Given the description of an element on the screen output the (x, y) to click on. 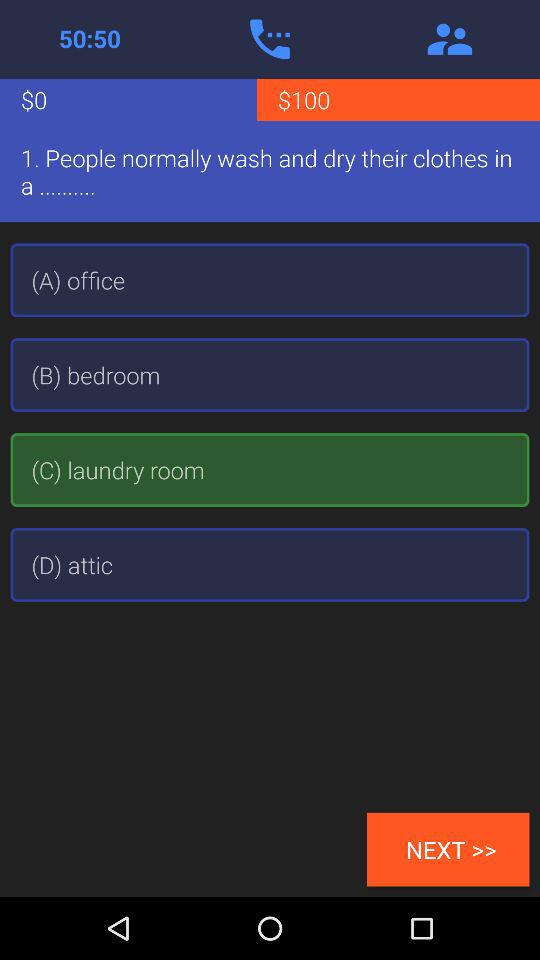
tap (a) office icon (269, 280)
